Given the description of an element on the screen output the (x, y) to click on. 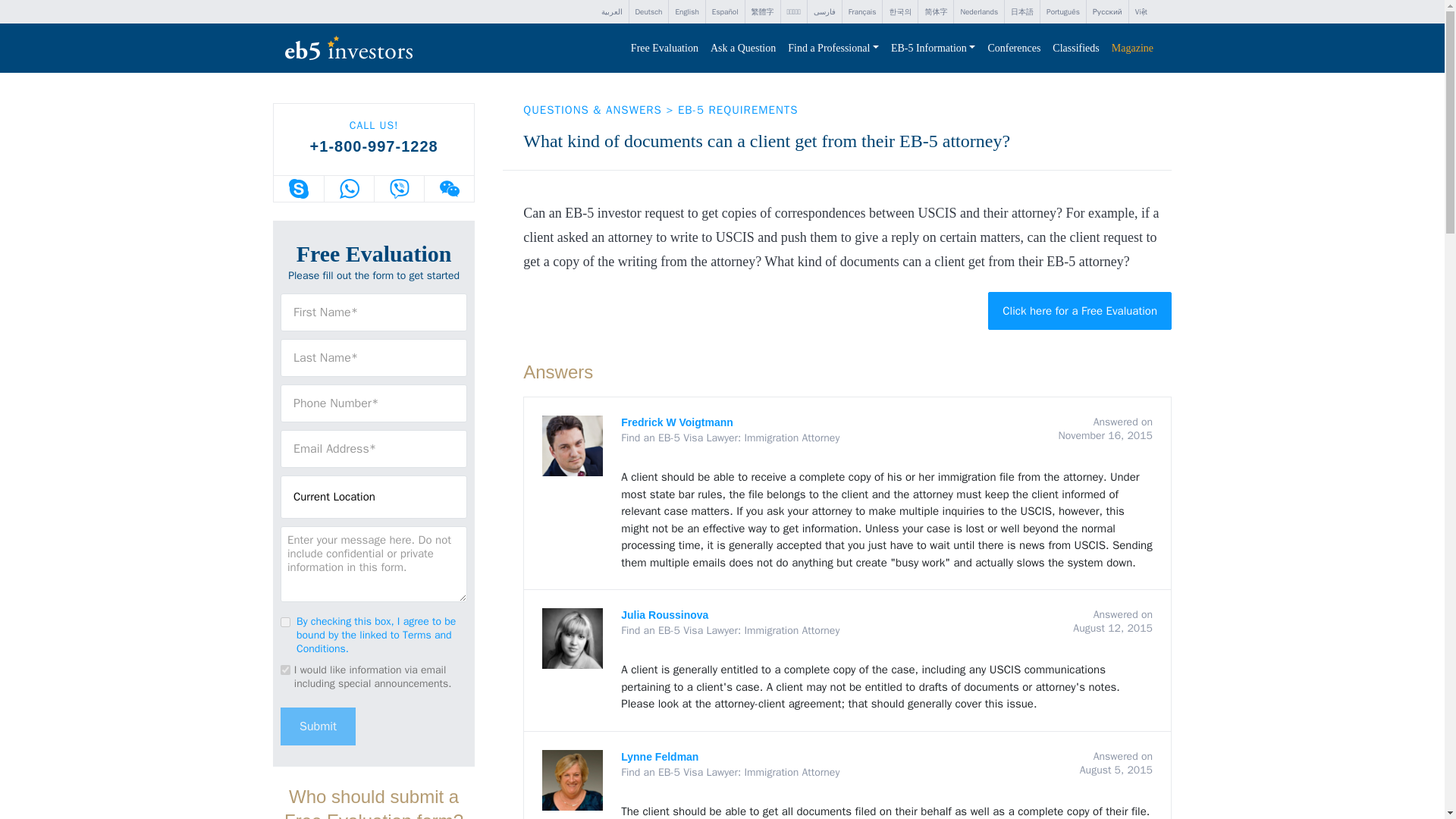
1 (285, 622)
English (686, 11)
Ask a Question (742, 48)
Find a Professional (833, 48)
Free Evaluation (664, 48)
EB-5 Information (933, 48)
Nederlands (978, 11)
Deutsch (648, 11)
Ask a Question (742, 48)
